Given the description of an element on the screen output the (x, y) to click on. 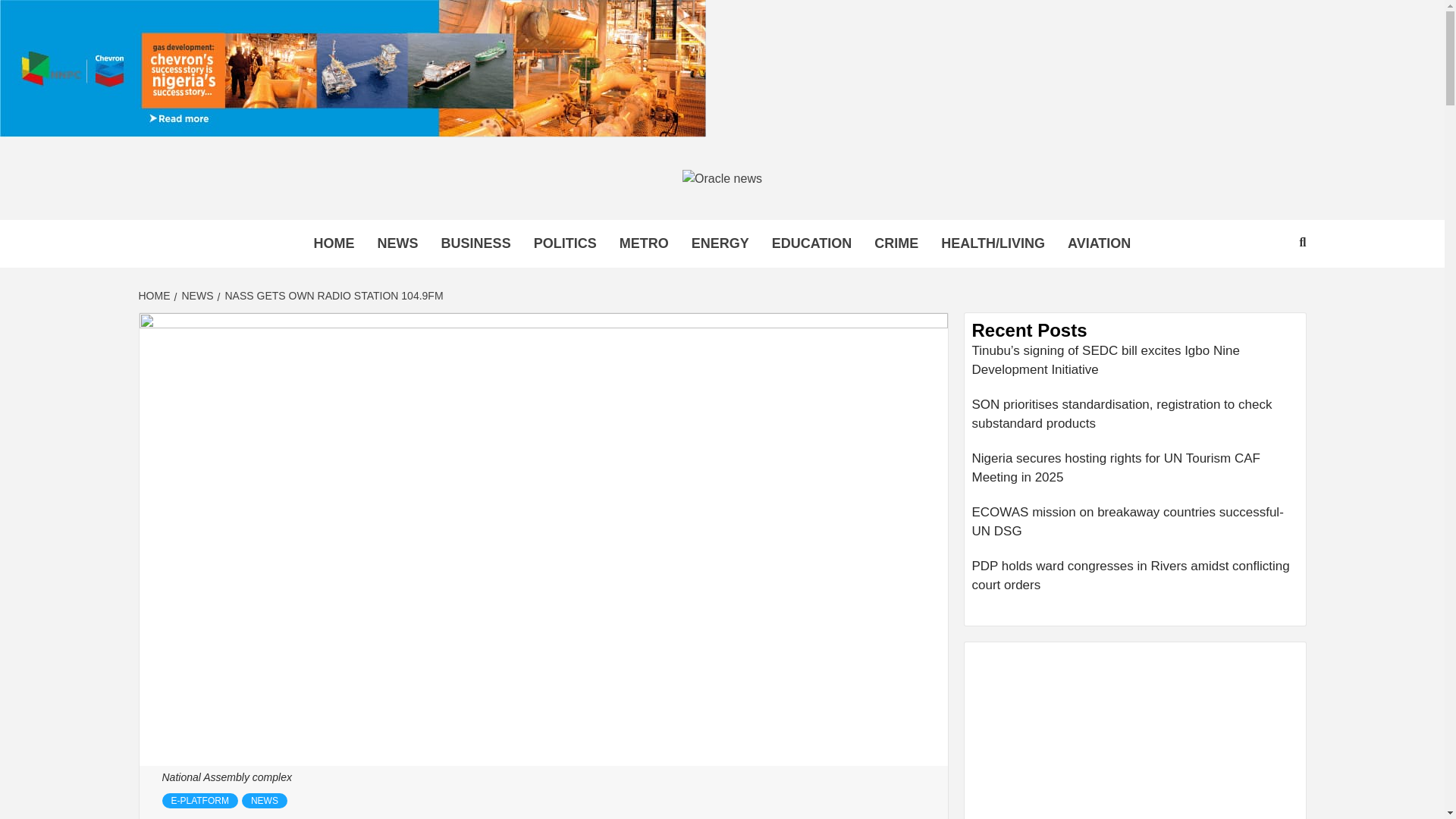
BUSINESS (475, 243)
NEWS (263, 800)
HOME (334, 243)
HOME (155, 295)
AVIATION (1099, 243)
POLITICS (565, 243)
E-PLATFORM (199, 800)
ENERGY (719, 243)
METRO (643, 243)
NEWS (397, 243)
NEWS (195, 295)
CRIME (896, 243)
ORACLE NEWS (426, 225)
EDUCATION (811, 243)
NASS GETS OWN RADIO STATION 104.9FM (331, 295)
